Given the description of an element on the screen output the (x, y) to click on. 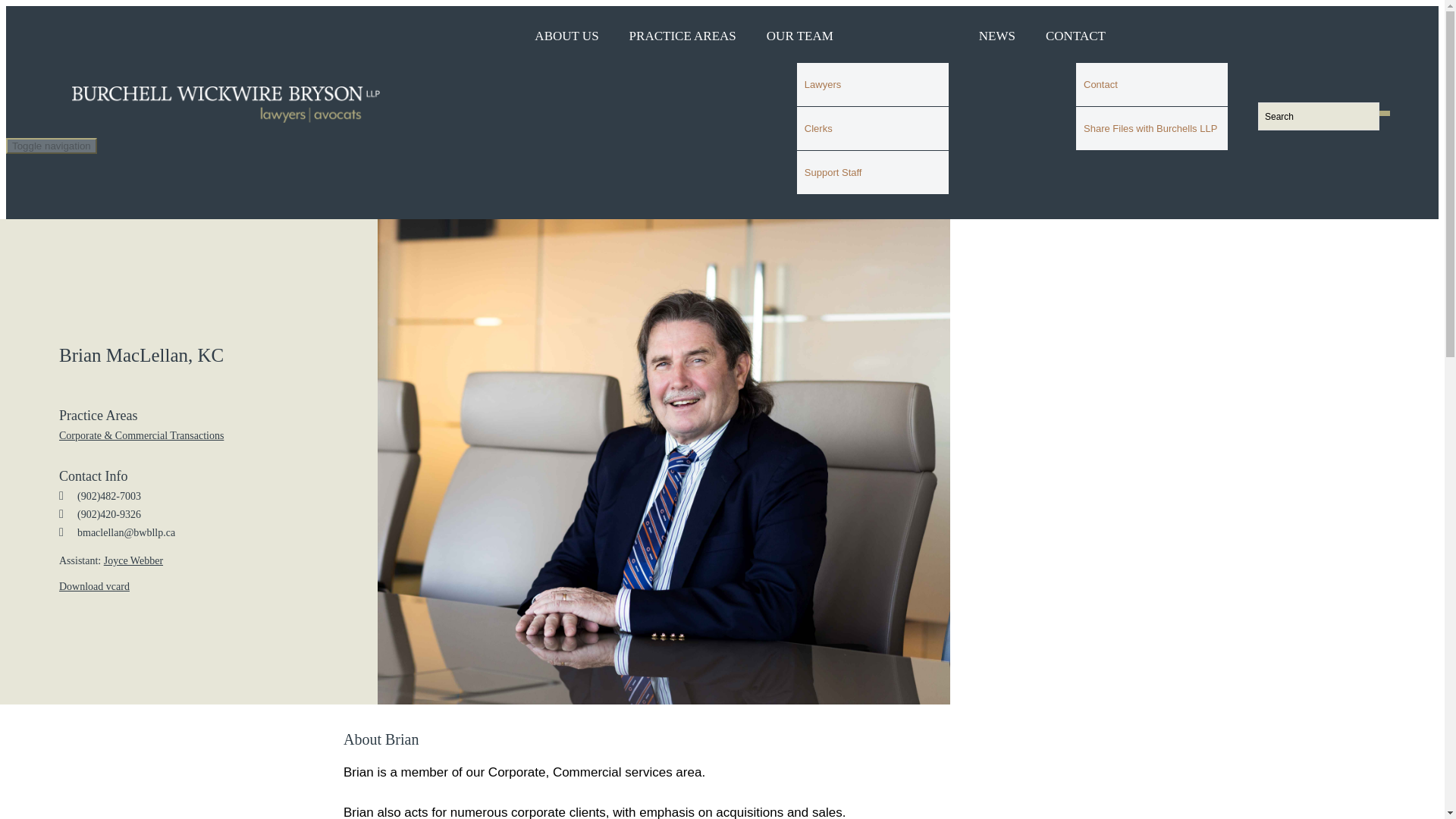
Share Files with Burchells LLP (1151, 128)
CONTACT (1075, 28)
Support Staff (872, 172)
Contact (1151, 84)
PRACTICE AREAS (682, 28)
SEARCH (1277, 150)
Download vcard (94, 586)
NEWS (996, 28)
Clerks (872, 128)
Home (264, 104)
Enter the terms you wish to search for. (1317, 116)
Toggle navigation (51, 145)
Joyce Webber (133, 560)
ABOUT US (566, 28)
